Given the description of an element on the screen output the (x, y) to click on. 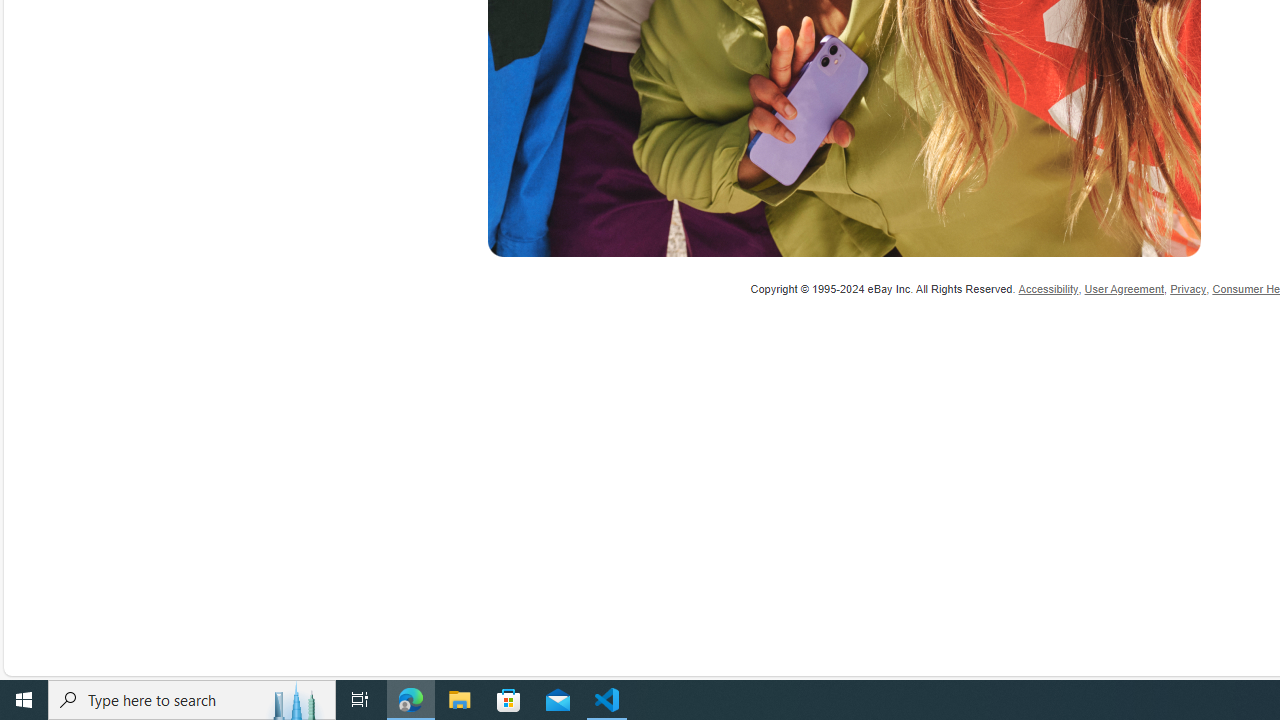
Accessibility (1048, 288)
User Agreement (1124, 288)
